Given the description of an element on the screen output the (x, y) to click on. 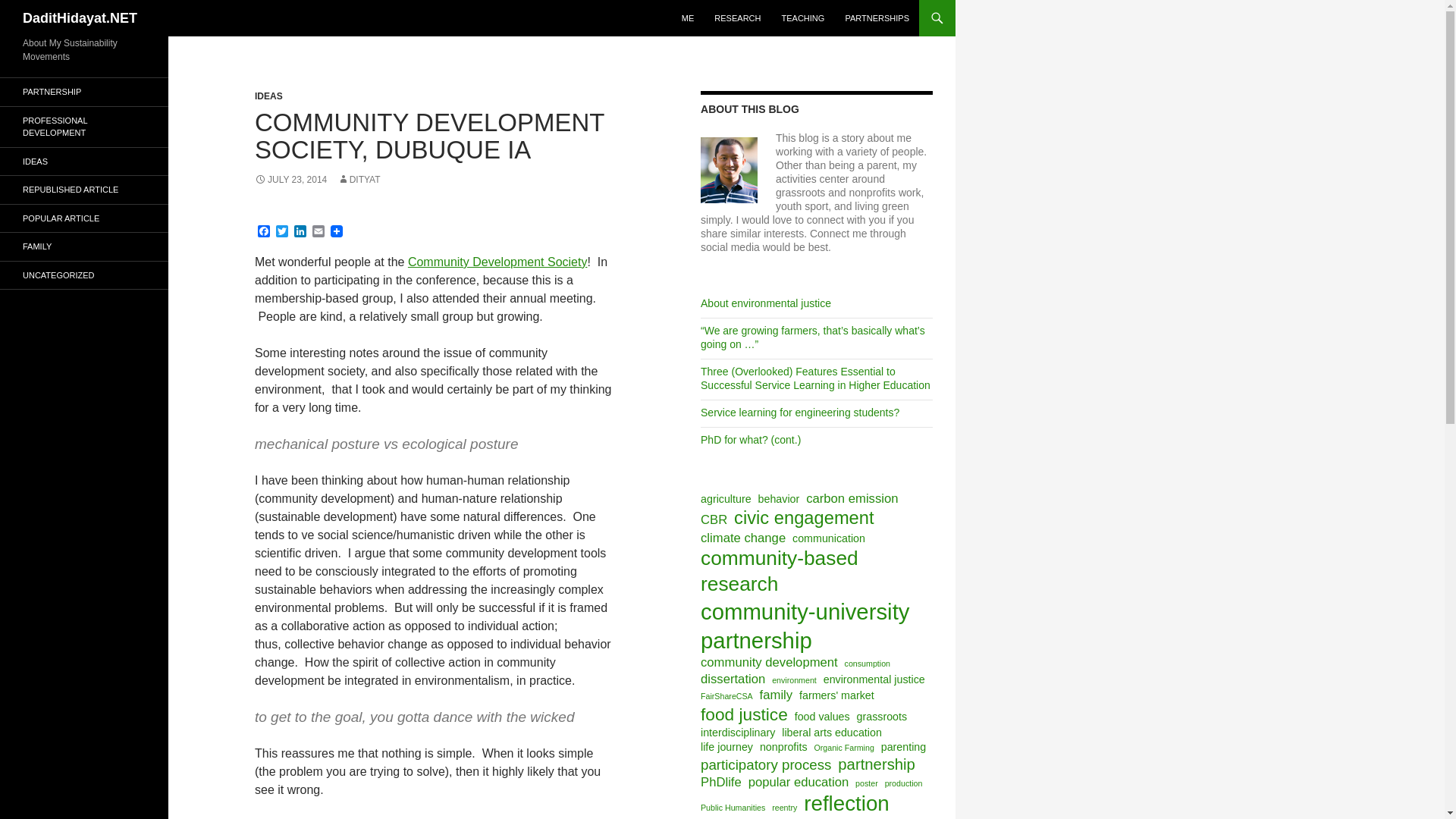
JULY 23, 2014 (290, 179)
CBR (713, 519)
LinkedIn (299, 232)
Facebook (263, 232)
Facebook (263, 232)
community development (769, 662)
Email (317, 232)
civic engagement (803, 517)
Service learning for engineering students? (799, 412)
communication (828, 538)
Twitter (282, 232)
community-university partnership (814, 625)
IDEAS (268, 95)
consumption (866, 664)
community-based research (814, 571)
